Given the description of an element on the screen output the (x, y) to click on. 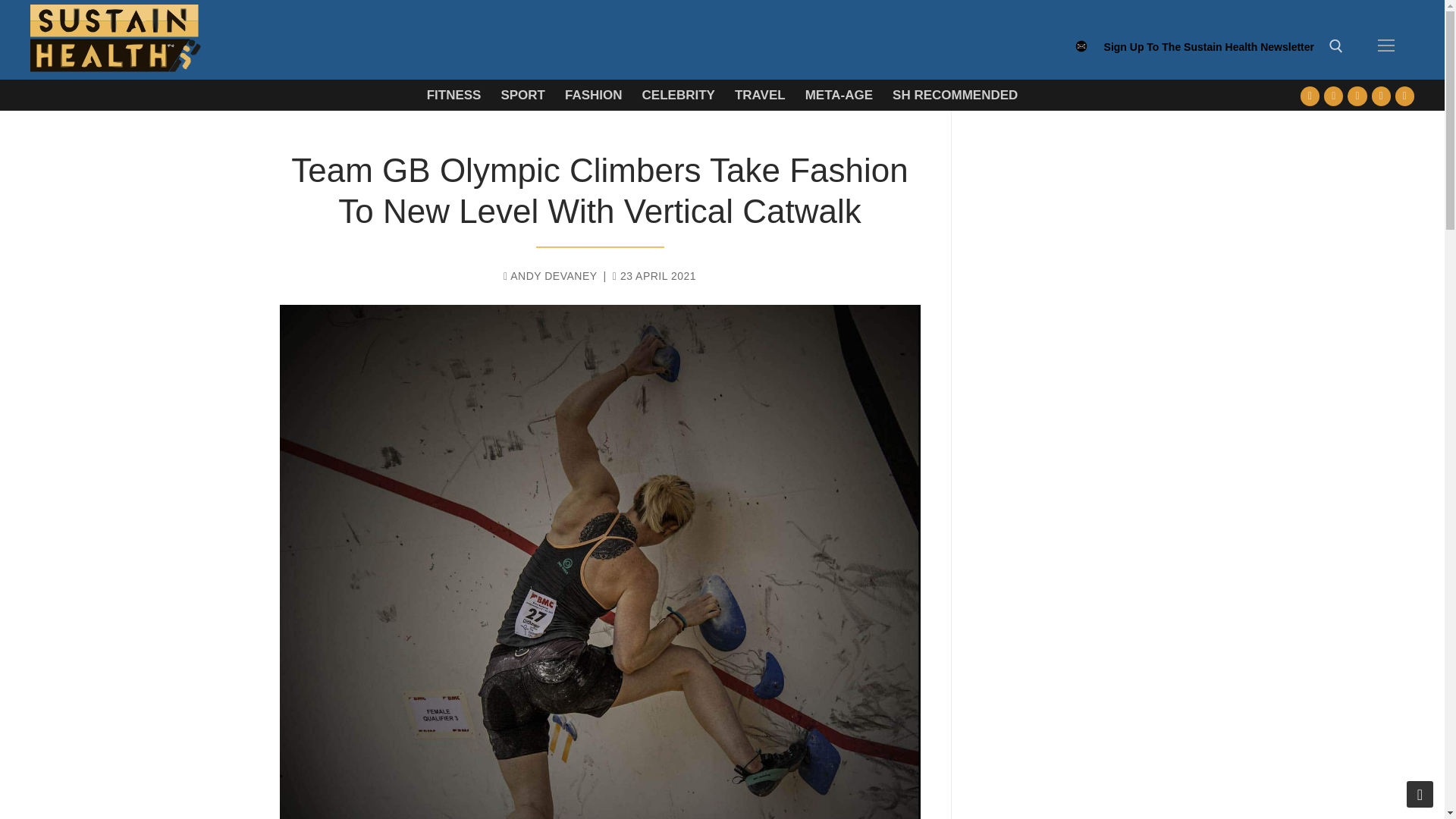
ANDY DEVANEY (549, 275)
Instagram (1380, 95)
Youtube (1357, 95)
SH RECOMMENDED (954, 94)
Twitter (1333, 95)
Facebook (1310, 95)
CELEBRITY (678, 94)
Sign Up To The Sustain Health Newsletter (1208, 53)
FASHION (592, 94)
TRAVEL (759, 94)
